Given the description of an element on the screen output the (x, y) to click on. 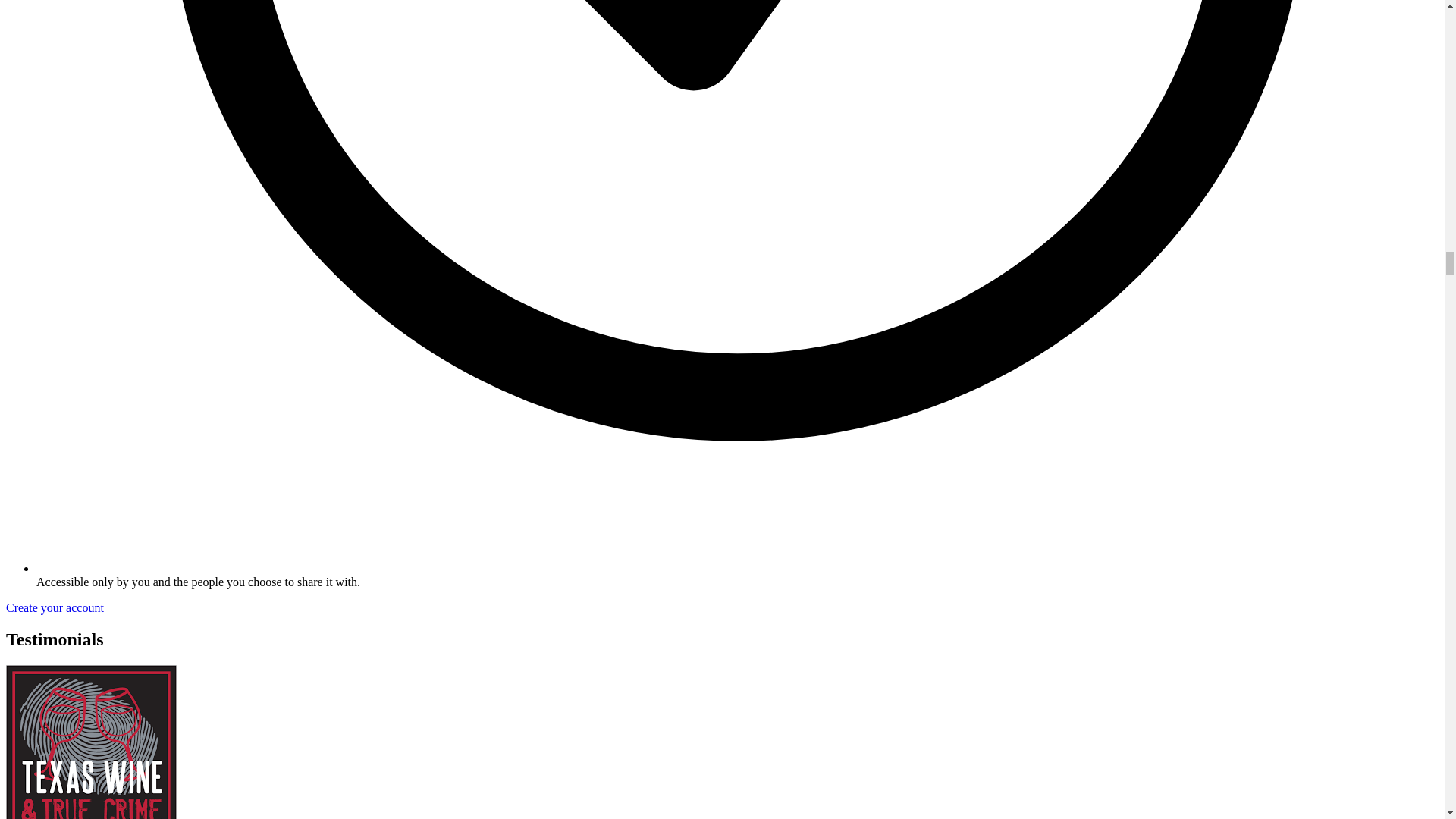
Create your account (54, 607)
